Given the description of an element on the screen output the (x, y) to click on. 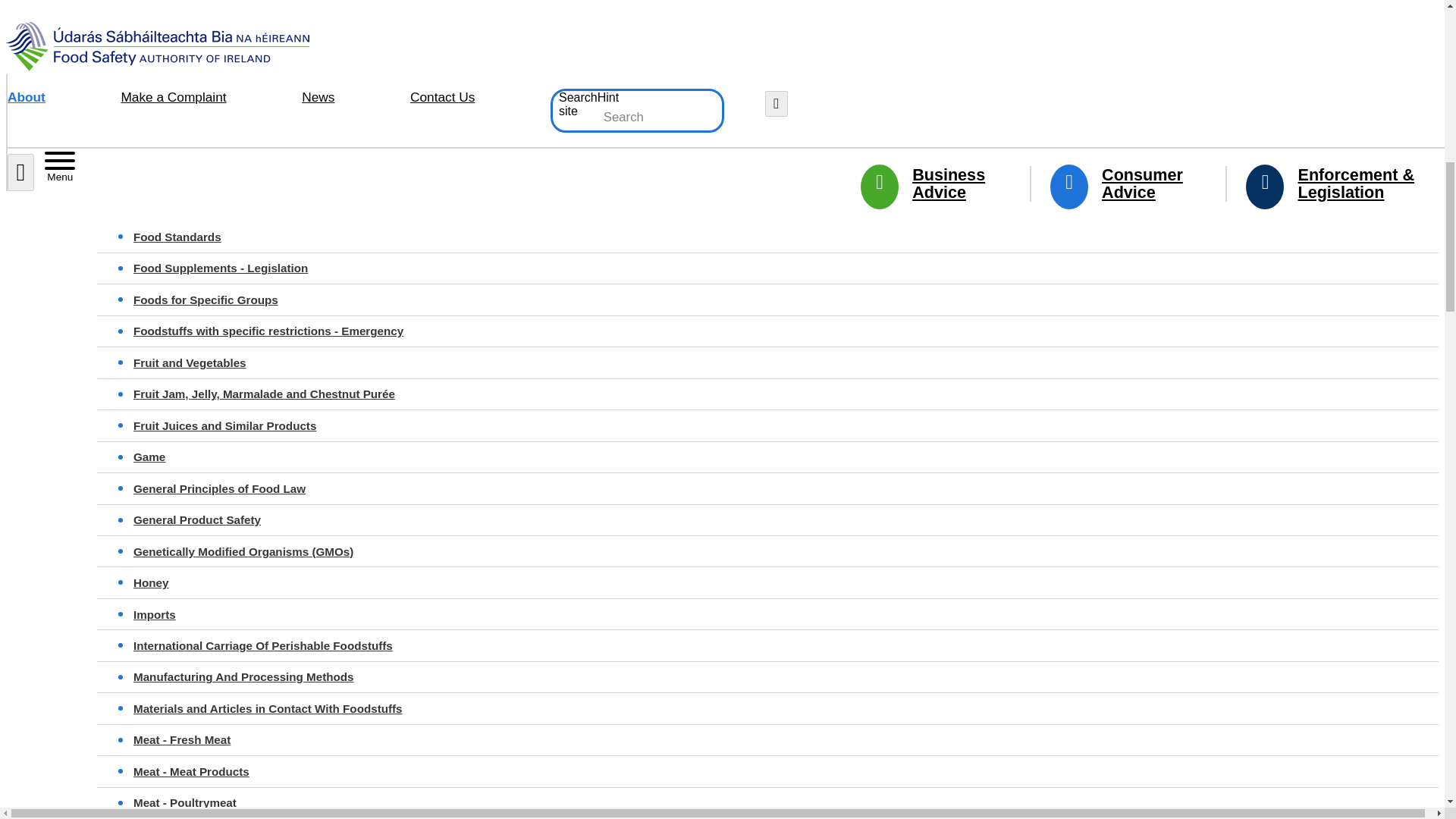
Food Fortification (773, 173)
Food Additives (773, 47)
Flavourings (773, 16)
Food Hygiene (773, 142)
Food Contaminants (773, 79)
Food Enzymes (773, 110)
